Given the description of an element on the screen output the (x, y) to click on. 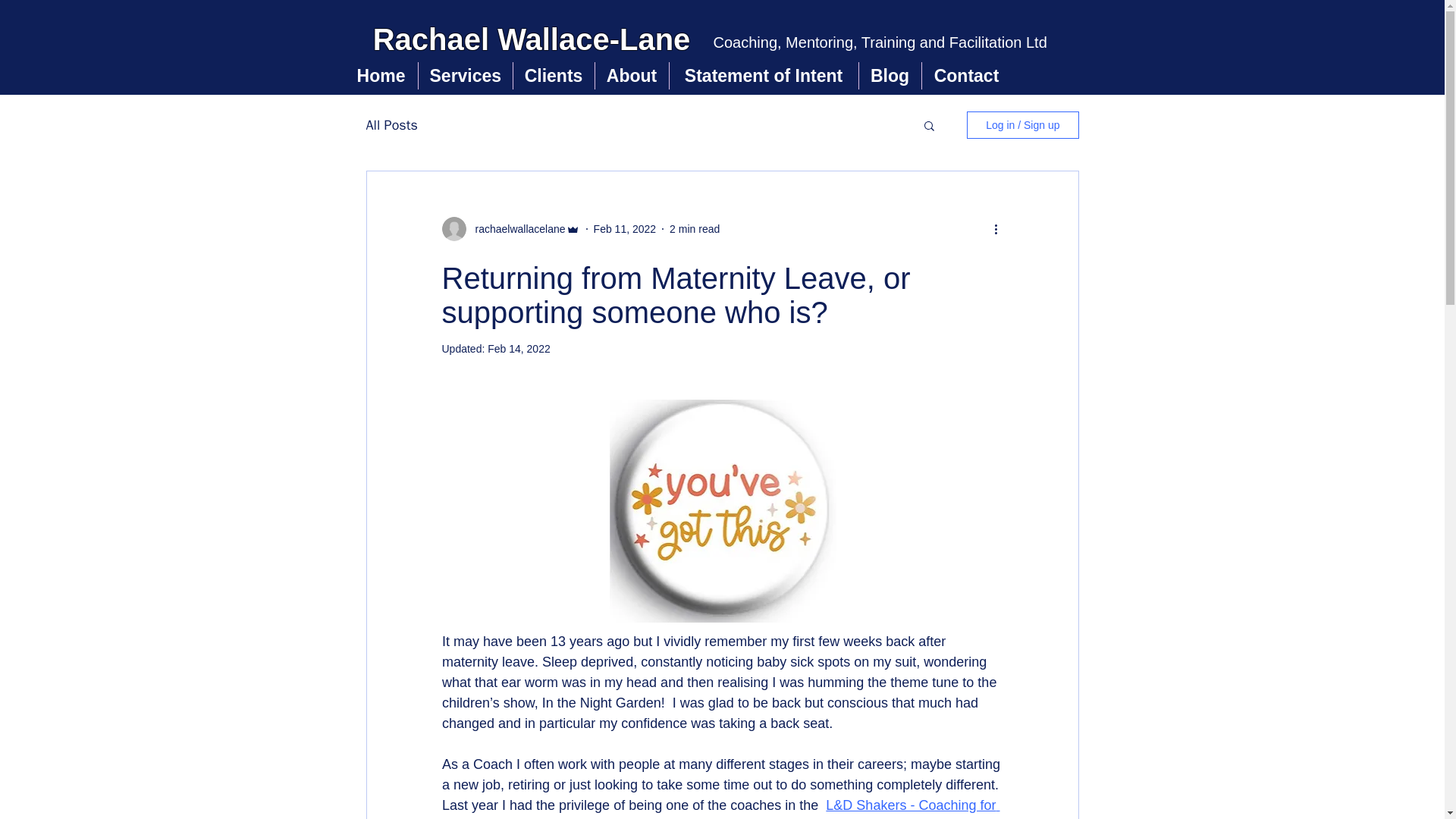
2 min read (694, 228)
Clients (553, 75)
Services (465, 75)
Feb 14, 2022 (518, 348)
About (631, 75)
Home (379, 75)
Blog (889, 75)
rachaelwallacelane (514, 229)
Rachael (434, 39)
All Posts (390, 125)
Contact (966, 75)
Feb 11, 2022 (625, 228)
Wallace-Lane (593, 39)
Statement of Intent (762, 75)
